Given the description of an element on the screen output the (x, y) to click on. 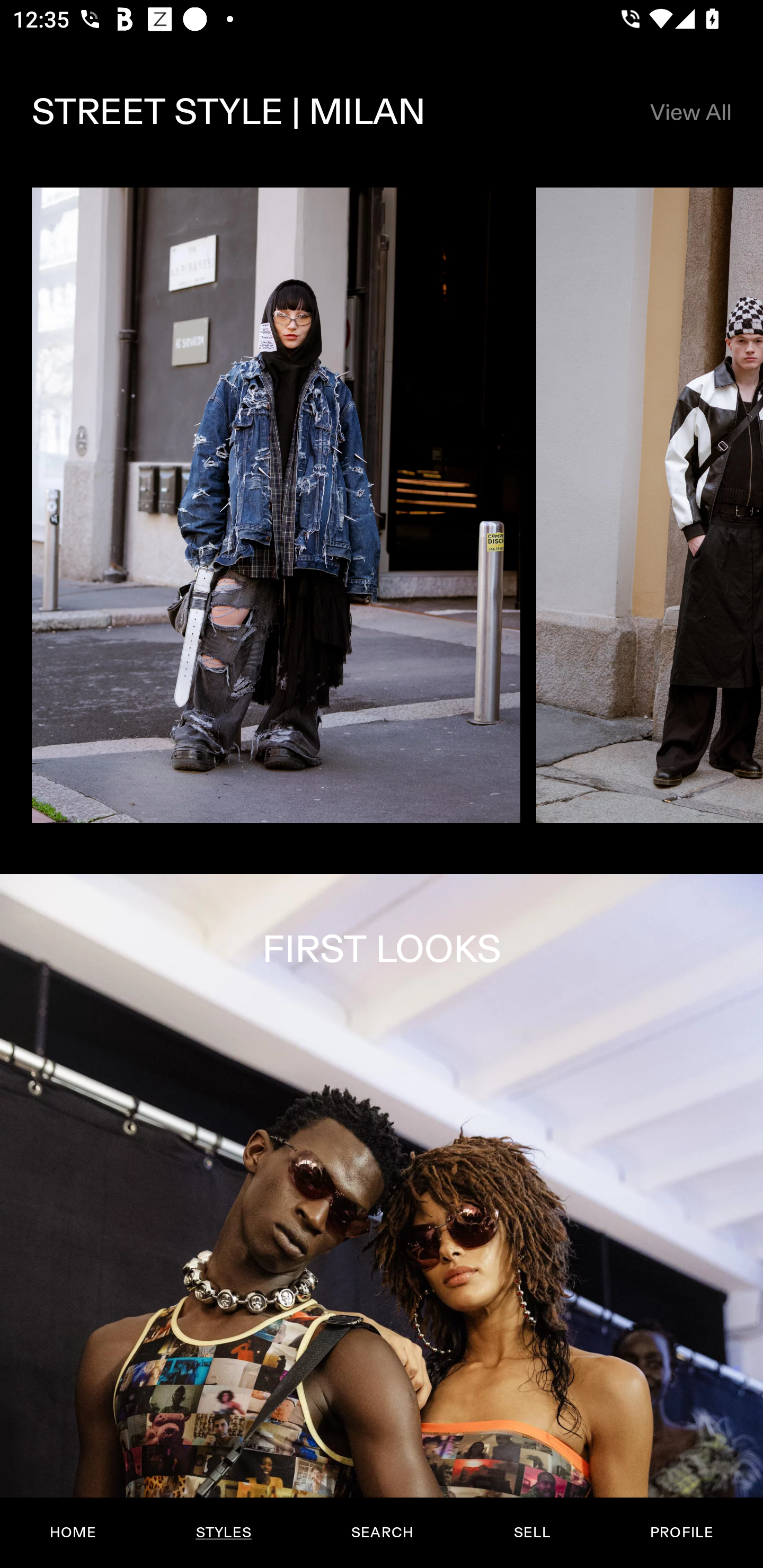
View All (690, 112)
FIRST LOOKS DIESEL FALL '24 (381, 1220)
HOME (72, 1532)
STYLES (222, 1532)
SEARCH (381, 1532)
SELL (531, 1532)
PROFILE (681, 1532)
